Given the description of an element on the screen output the (x, y) to click on. 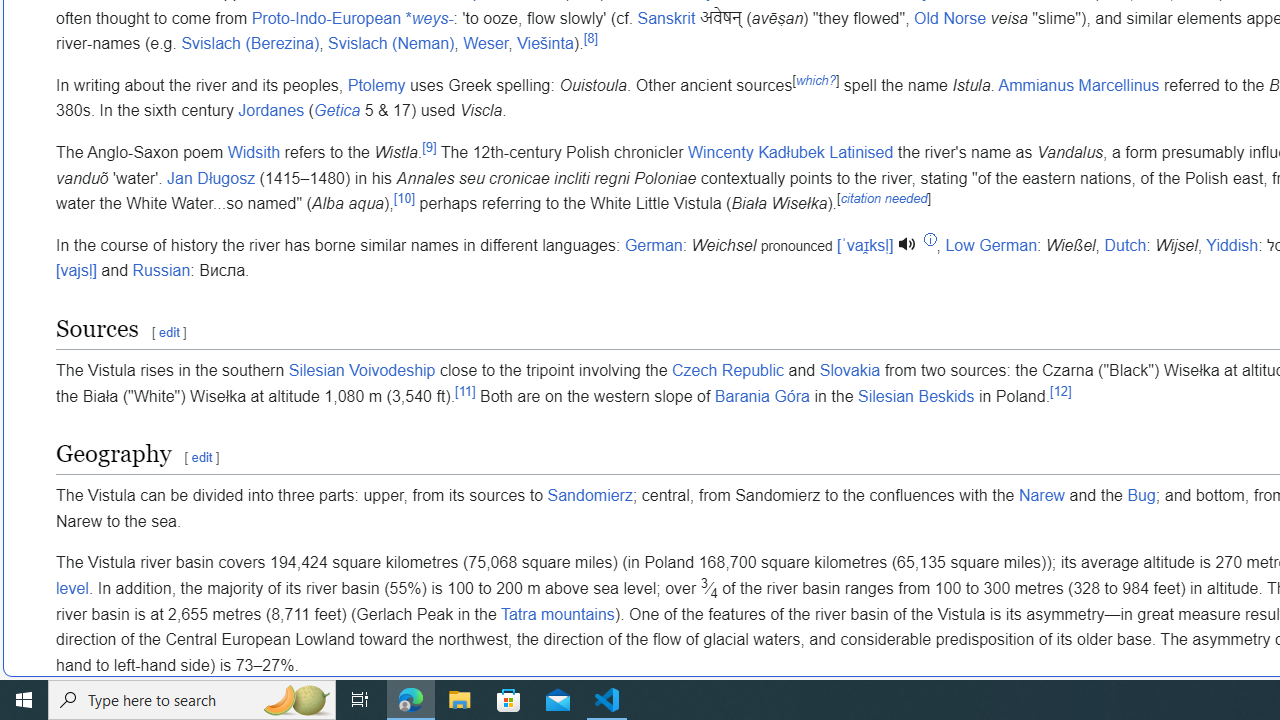
Jordanes (271, 111)
Low German (991, 245)
Bug (1140, 495)
[11] (465, 390)
Widsith (253, 152)
German (653, 245)
*weys- (429, 17)
Svislach (Neman) (390, 44)
Old Norse (949, 17)
Slovakia (849, 371)
which? (814, 79)
Weser (486, 44)
[12] (1060, 390)
